Given the description of an element on the screen output the (x, y) to click on. 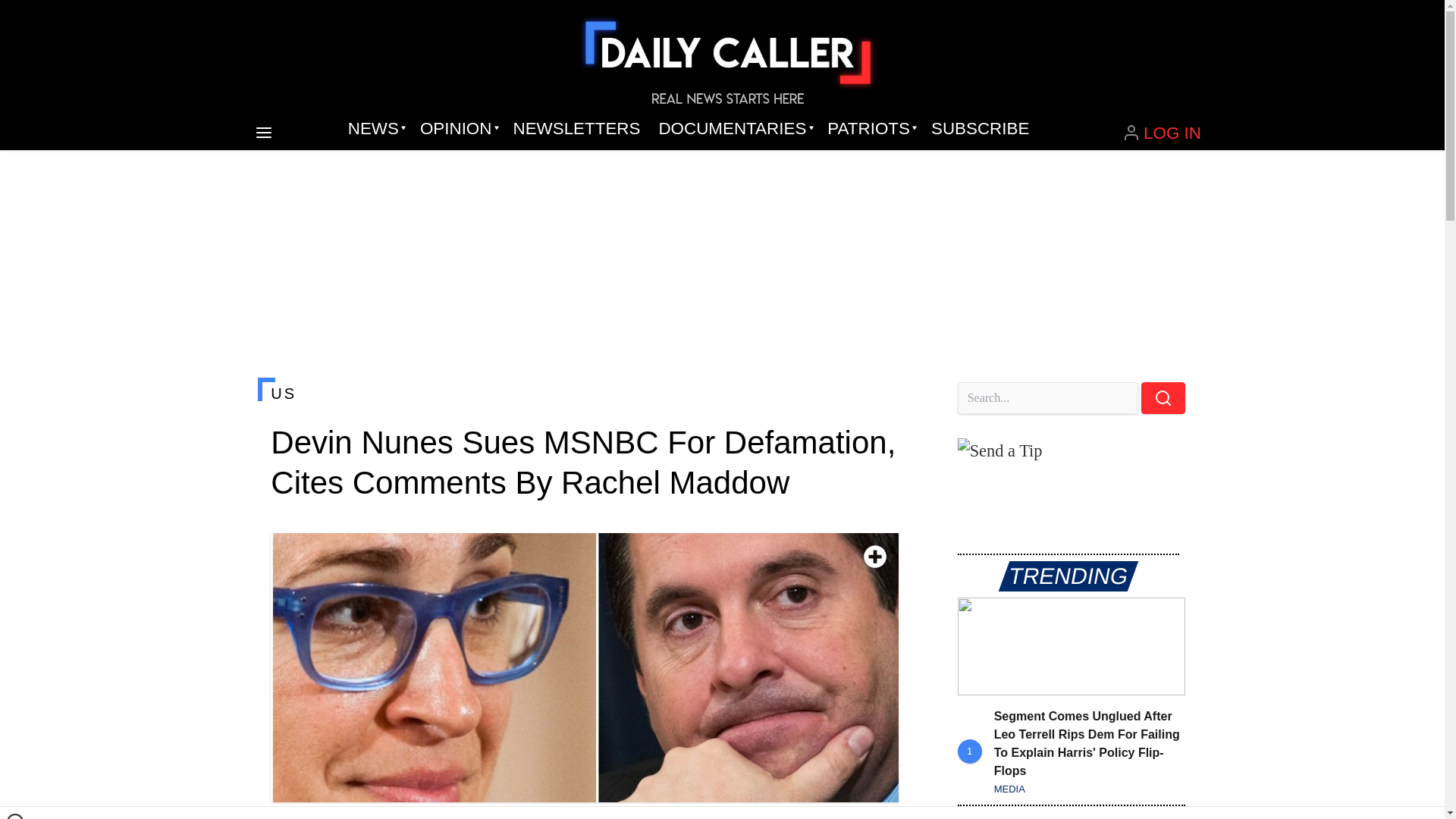
DOCUMENTARIES (733, 128)
Close window (14, 816)
PATRIOTS (869, 128)
US (584, 393)
OPINION (456, 128)
NEWSLETTERS (576, 128)
NEWS (374, 128)
SUBSCRIBE (979, 128)
Toggle fullscreen (874, 556)
